Given the description of an element on the screen output the (x, y) to click on. 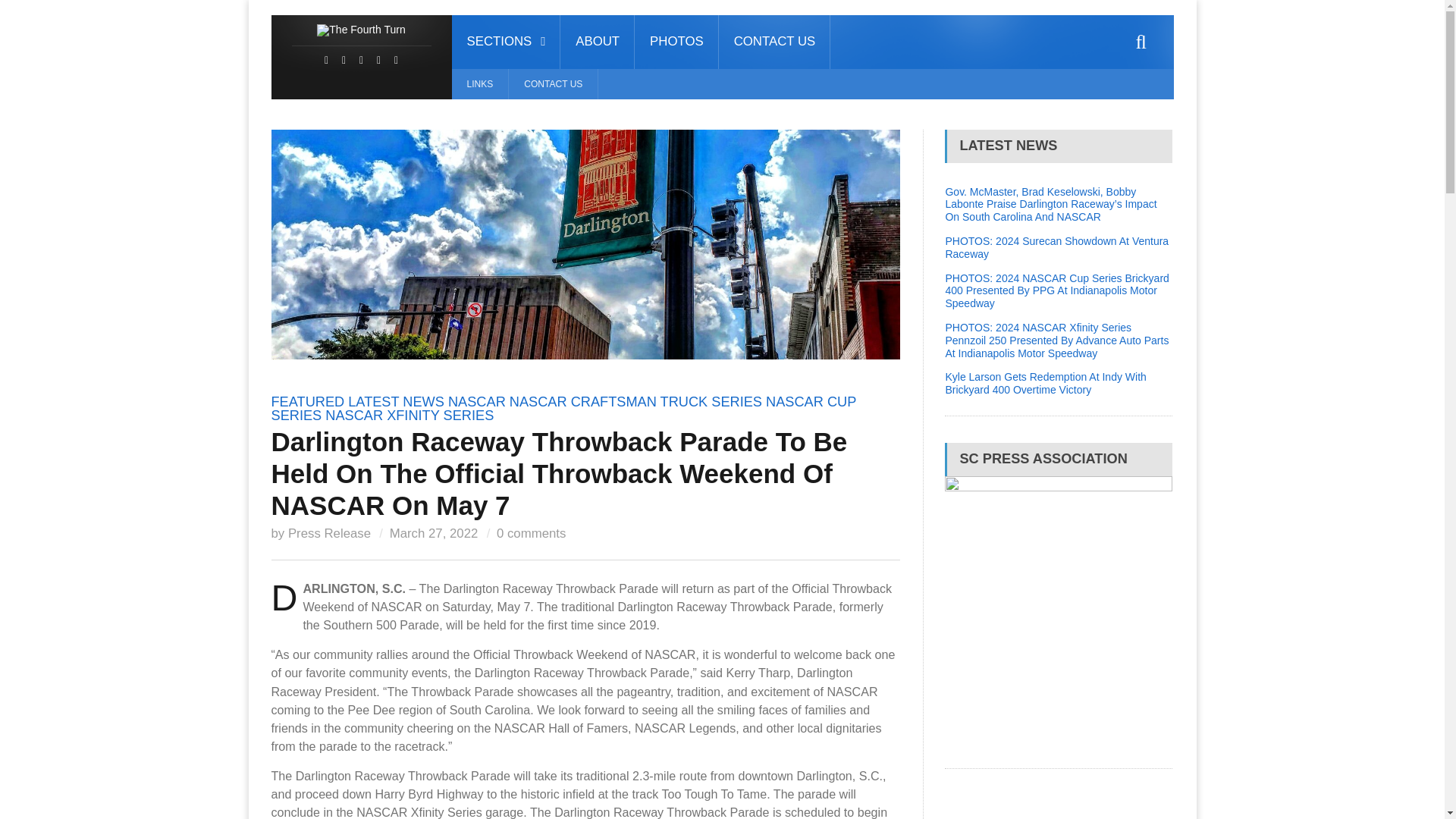
LINKS (479, 83)
SECTIONS (505, 41)
Posts by Press Release (329, 533)
PHOTOS (676, 41)
NASCAR XFINITY SERIES (408, 415)
FEATURED (307, 401)
CONTACT US (775, 41)
NASCAR CRAFTSMAN TRUCK SERIES (635, 401)
Search (1140, 42)
ABOUT (597, 41)
